Given the description of an element on the screen output the (x, y) to click on. 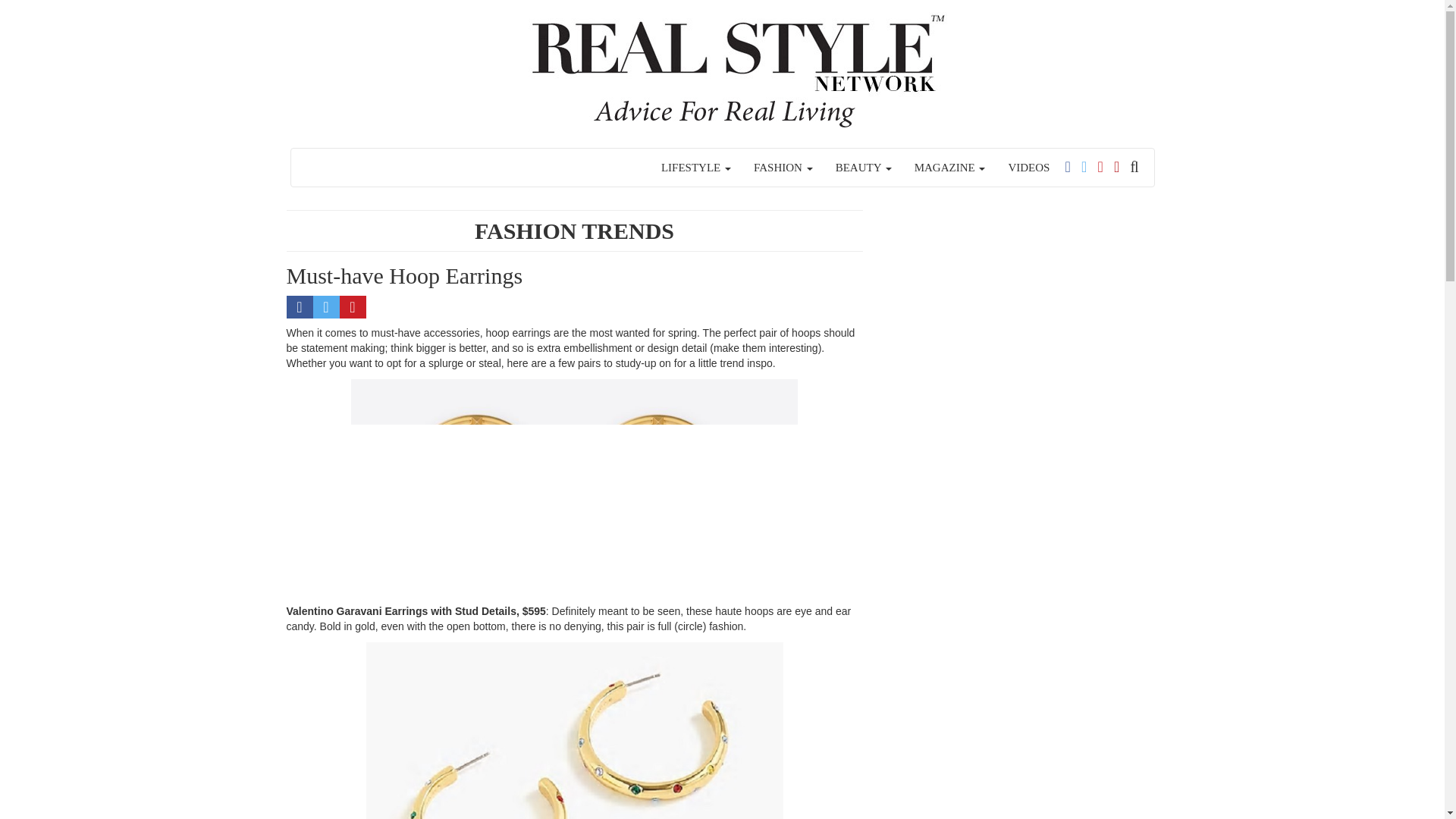
MAGAZINE (949, 167)
FASHION TRENDS (574, 230)
VIDEOS (1028, 167)
BEAUTY (863, 167)
FASHION (783, 167)
LIFESTYLE (695, 167)
